Given the description of an element on the screen output the (x, y) to click on. 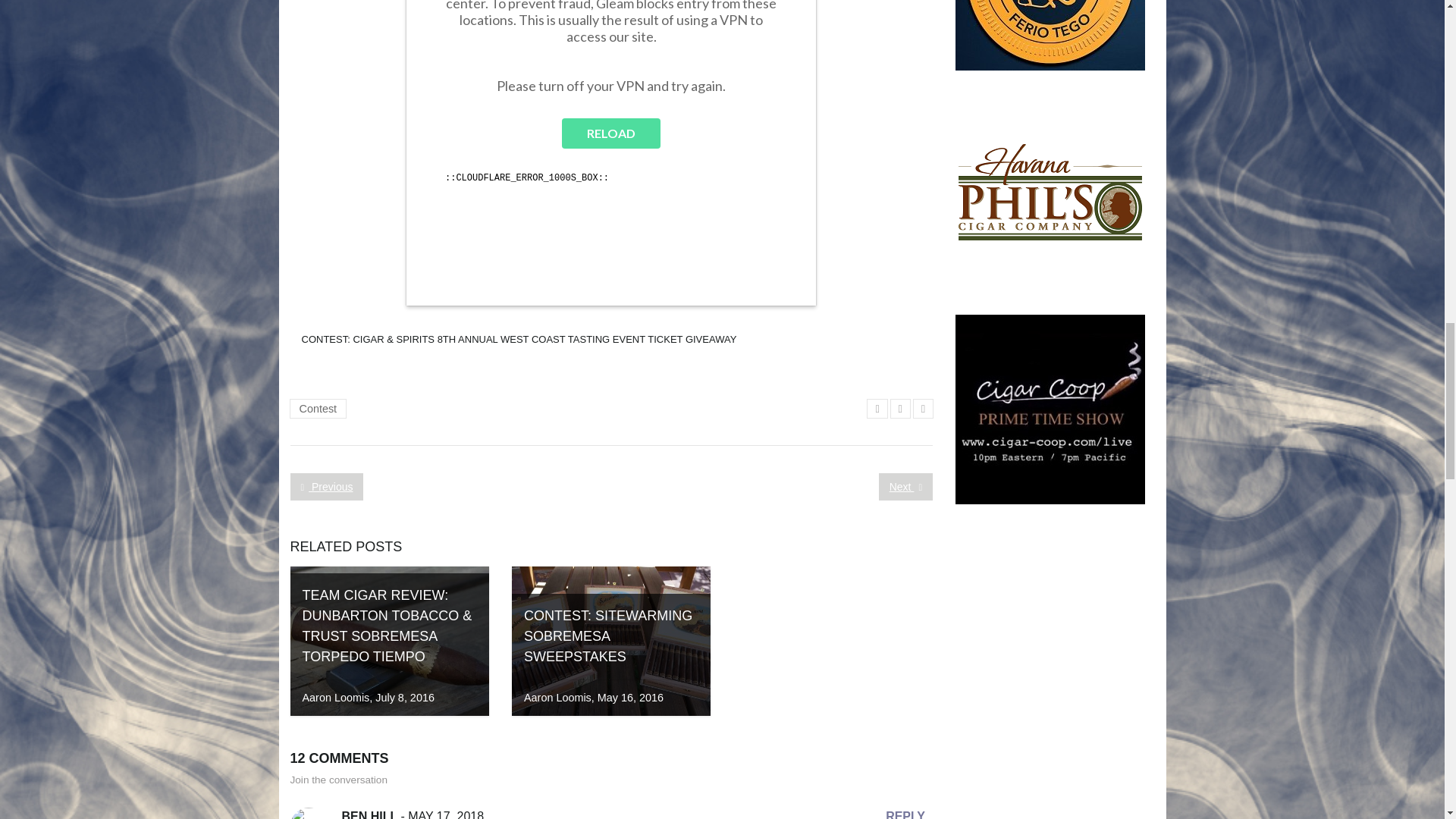
Competition (610, 152)
